Given the description of an element on the screen output the (x, y) to click on. 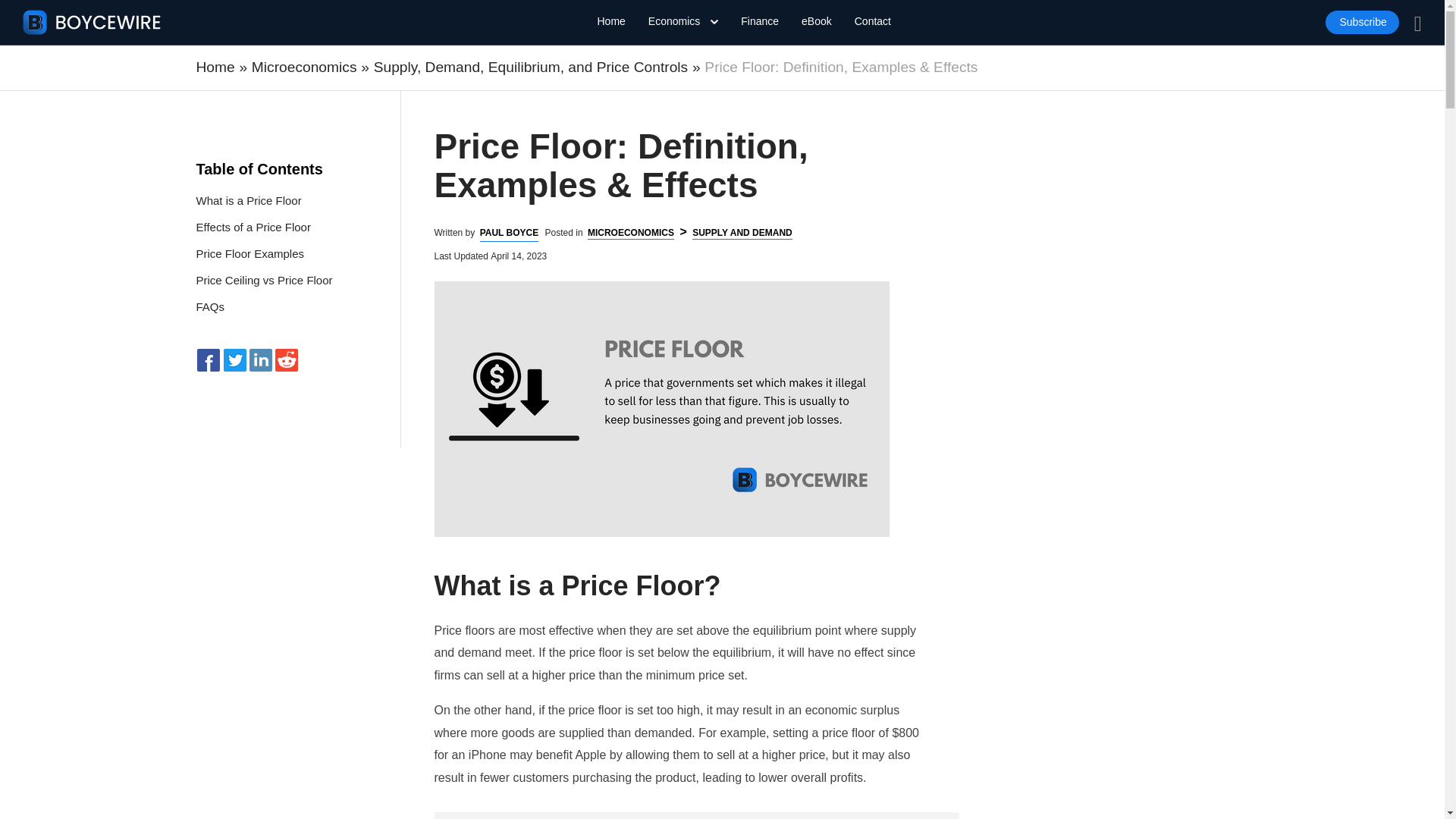
Contact (872, 21)
View all posts by Paul Boyce (509, 232)
Subscribe (1360, 22)
Effects of a Price Floor (252, 227)
Finance (759, 21)
eBook (816, 21)
What is a Price Floor (248, 200)
Home (214, 68)
Microeconomics (303, 68)
Home (611, 21)
Price Ceiling vs Price Floor (263, 280)
Supply, Demand, Equilibrium, and Price Controls (531, 68)
FAQs (209, 306)
boycewire logo (92, 22)
Price Floor Examples (249, 253)
